Given the description of an element on the screen output the (x, y) to click on. 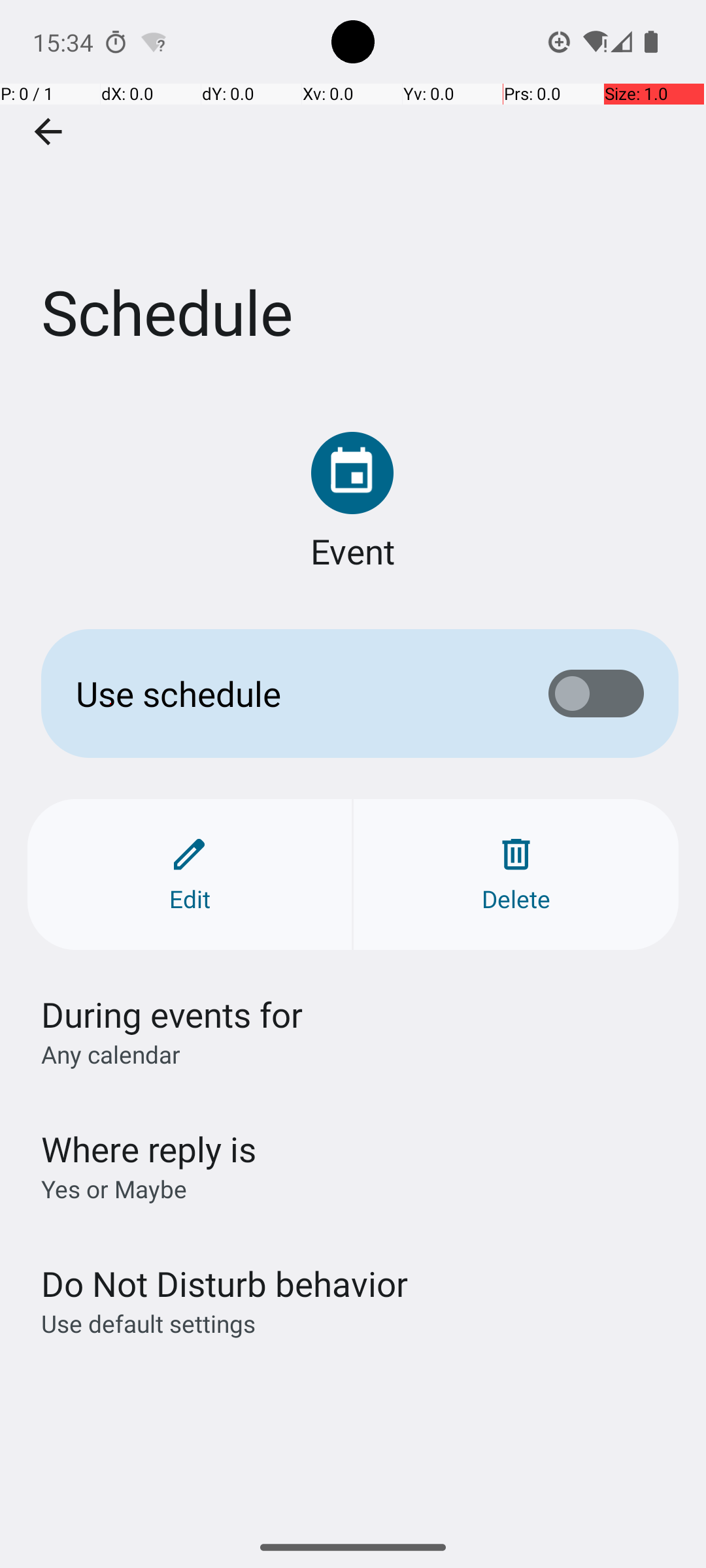
Schedule Element type: android.widget.FrameLayout (353, 195)
Use schedule Element type: android.widget.TextView (291, 693)
During events for Element type: android.widget.TextView (172, 1014)
Any calendar Element type: android.widget.TextView (110, 1053)
Where reply is Element type: android.widget.TextView (148, 1148)
Yes or Maybe Element type: android.widget.TextView (113, 1188)
Do Not Disturb behavior Element type: android.widget.TextView (224, 1283)
Use default settings Element type: android.widget.TextView (148, 1322)
